Given the description of an element on the screen output the (x, y) to click on. 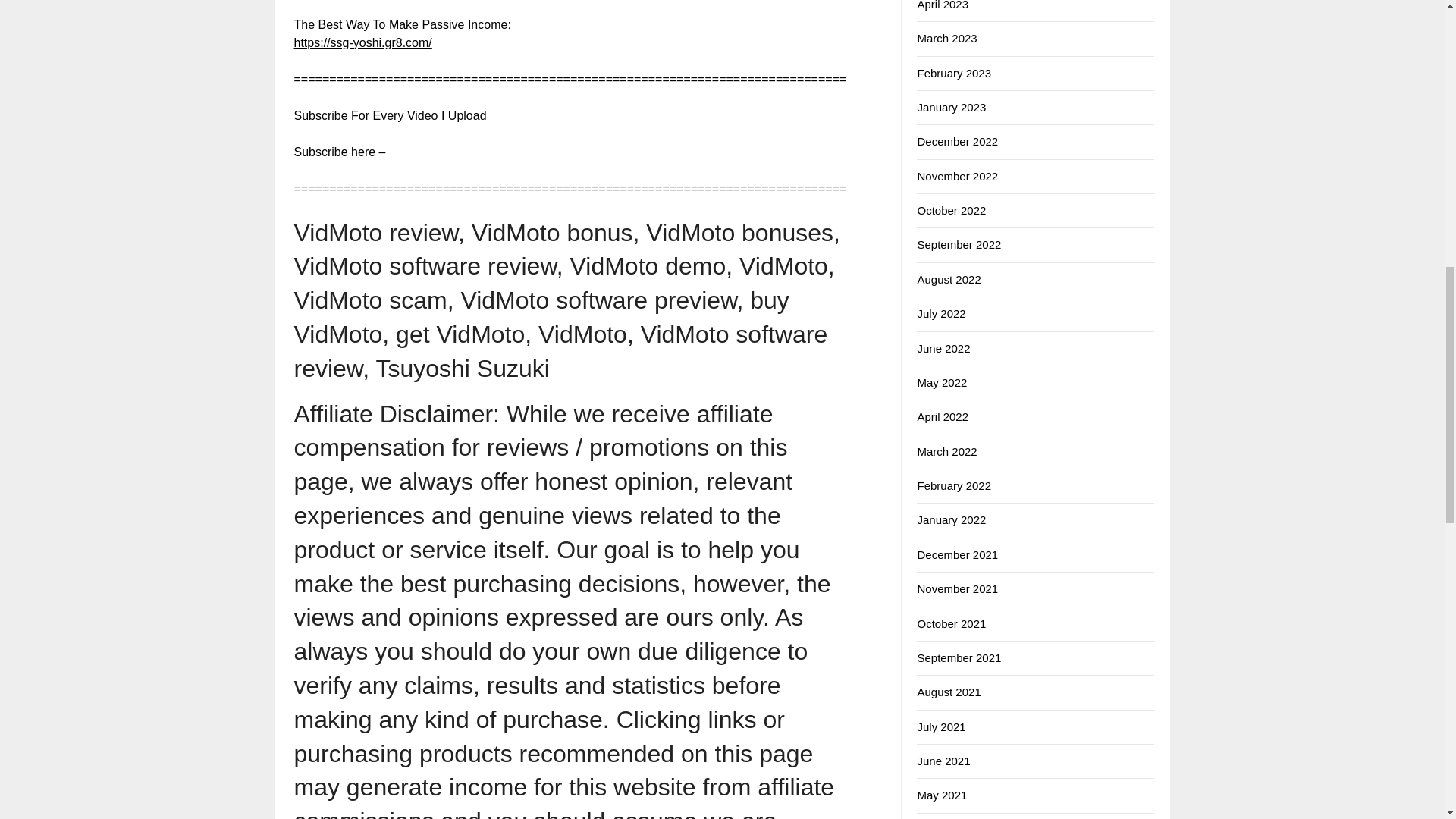
September 2022 (959, 244)
August 2022 (948, 278)
February 2022 (954, 485)
November 2022 (957, 175)
October 2022 (951, 210)
April 2023 (942, 5)
May 2022 (941, 382)
June 2022 (943, 348)
April 2022 (942, 416)
March 2023 (946, 38)
